Given the description of an element on the screen output the (x, y) to click on. 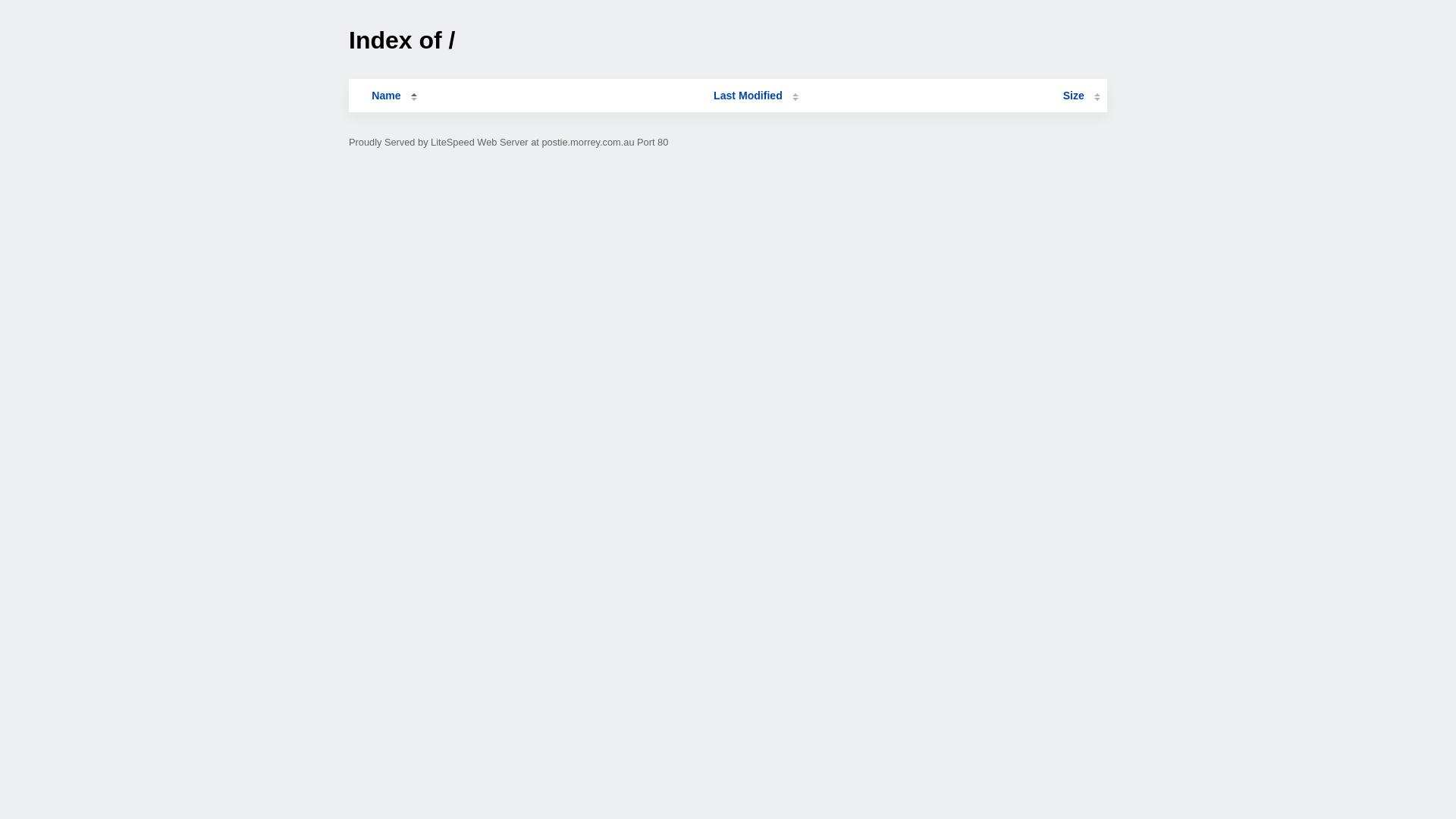
Name Element type: text (385, 95)
Size Element type: text (1081, 95)
Last Modified Element type: text (755, 95)
